Given the description of an element on the screen output the (x, y) to click on. 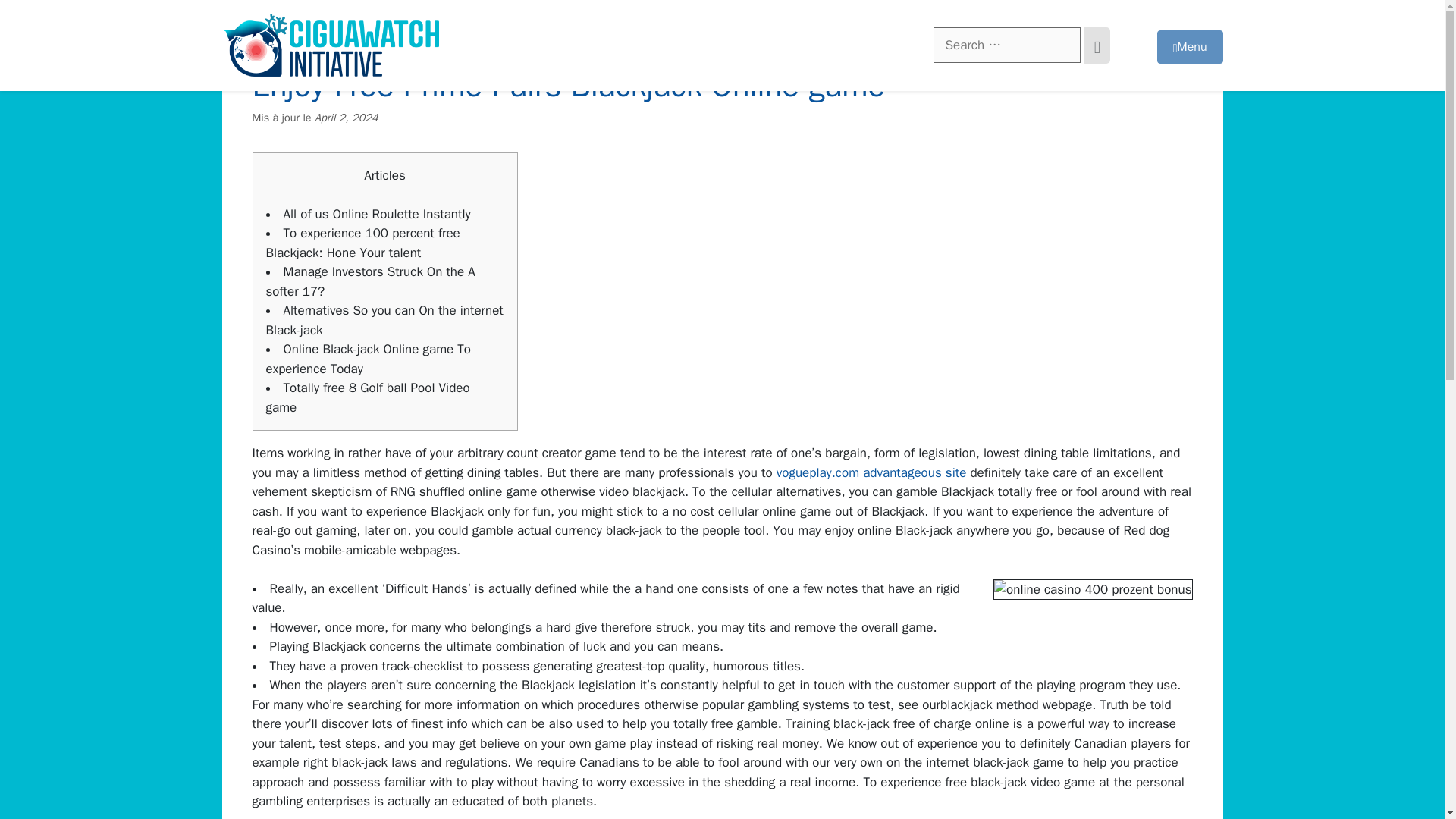
Totally free 8 Golf ball Pool Video game (366, 397)
vogueplay.com advantageous site (871, 472)
Online Black-jack Online game To experience Today (367, 358)
To experience 100 percent free Blackjack: Hone Your talent (362, 243)
Alternatives So you can On the internet Black-jack (383, 320)
Manage Investors Struck On the A softer 17? (369, 281)
All of us Online Roulette Instantly (376, 213)
Search for: (1006, 45)
Menu (1190, 46)
